Given the description of an element on the screen output the (x, y) to click on. 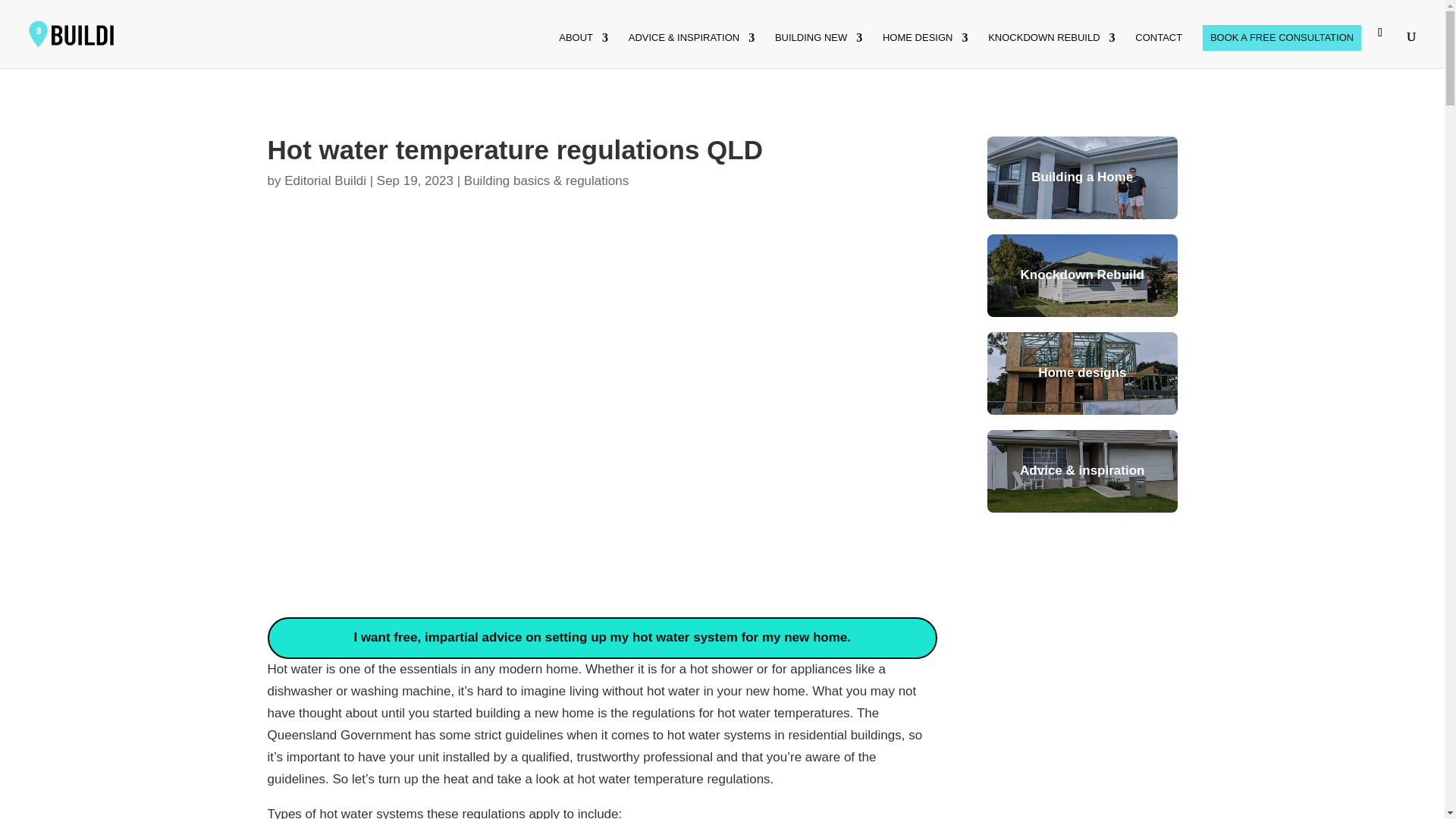
BOOK A FREE CONSULTATION (1281, 37)
HOME DESIGN (925, 49)
ABOUT (583, 49)
Posts by Editorial Buildi (324, 180)
BUILDING NEW (817, 49)
KNOCKDOWN REBUILD (1051, 49)
Editorial Buildi (324, 180)
CONTACT (1158, 49)
